Given the description of an element on the screen output the (x, y) to click on. 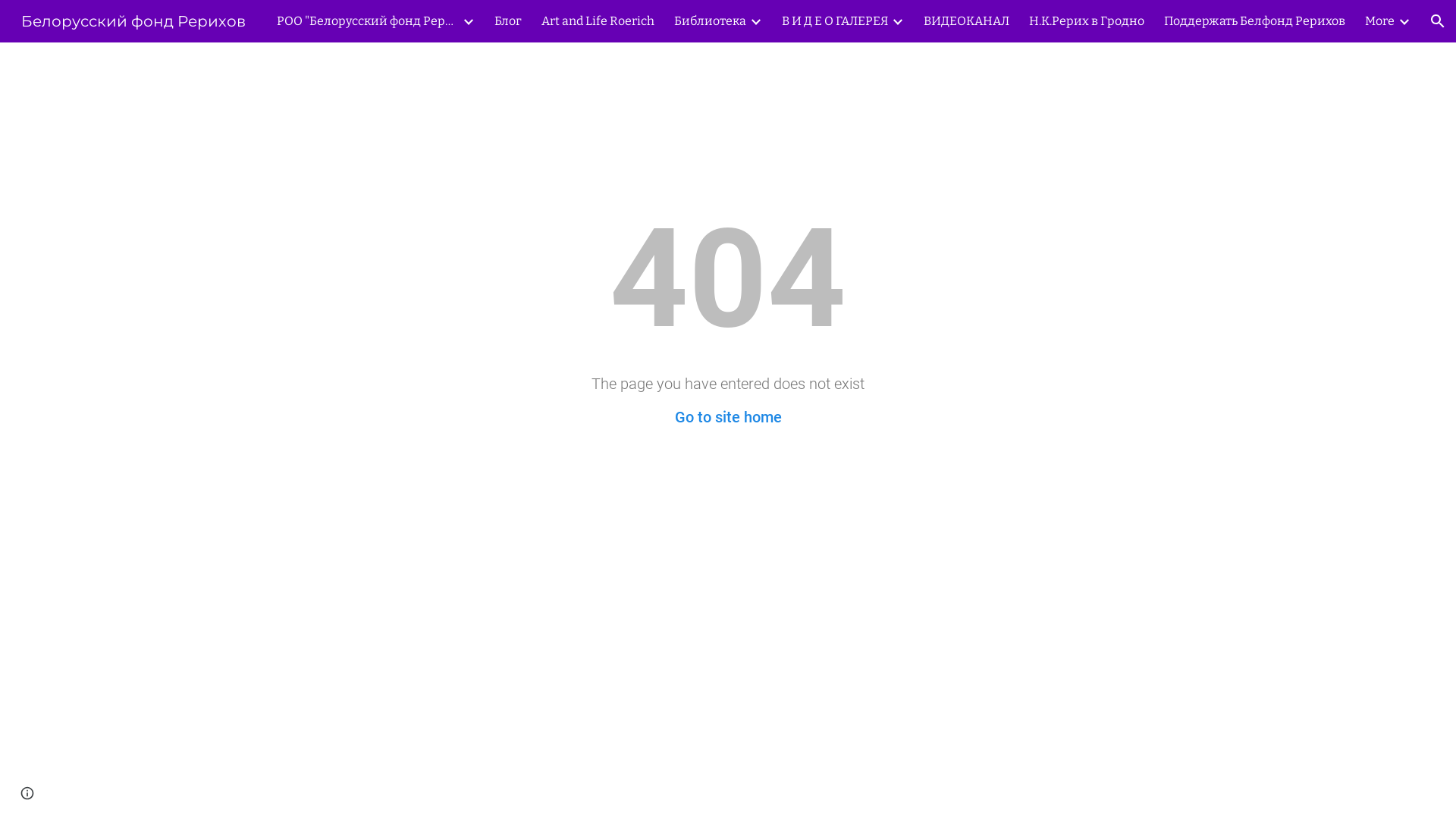
Expand/Collapse Element type: hover (896, 20)
Expand/Collapse Element type: hover (755, 20)
More Element type: text (1379, 20)
Expand/Collapse Element type: hover (1403, 20)
Art and Life Roerich Element type: text (597, 20)
Go to site home Element type: text (727, 416)
Expand/Collapse Element type: hover (467, 20)
